Given the description of an element on the screen output the (x, y) to click on. 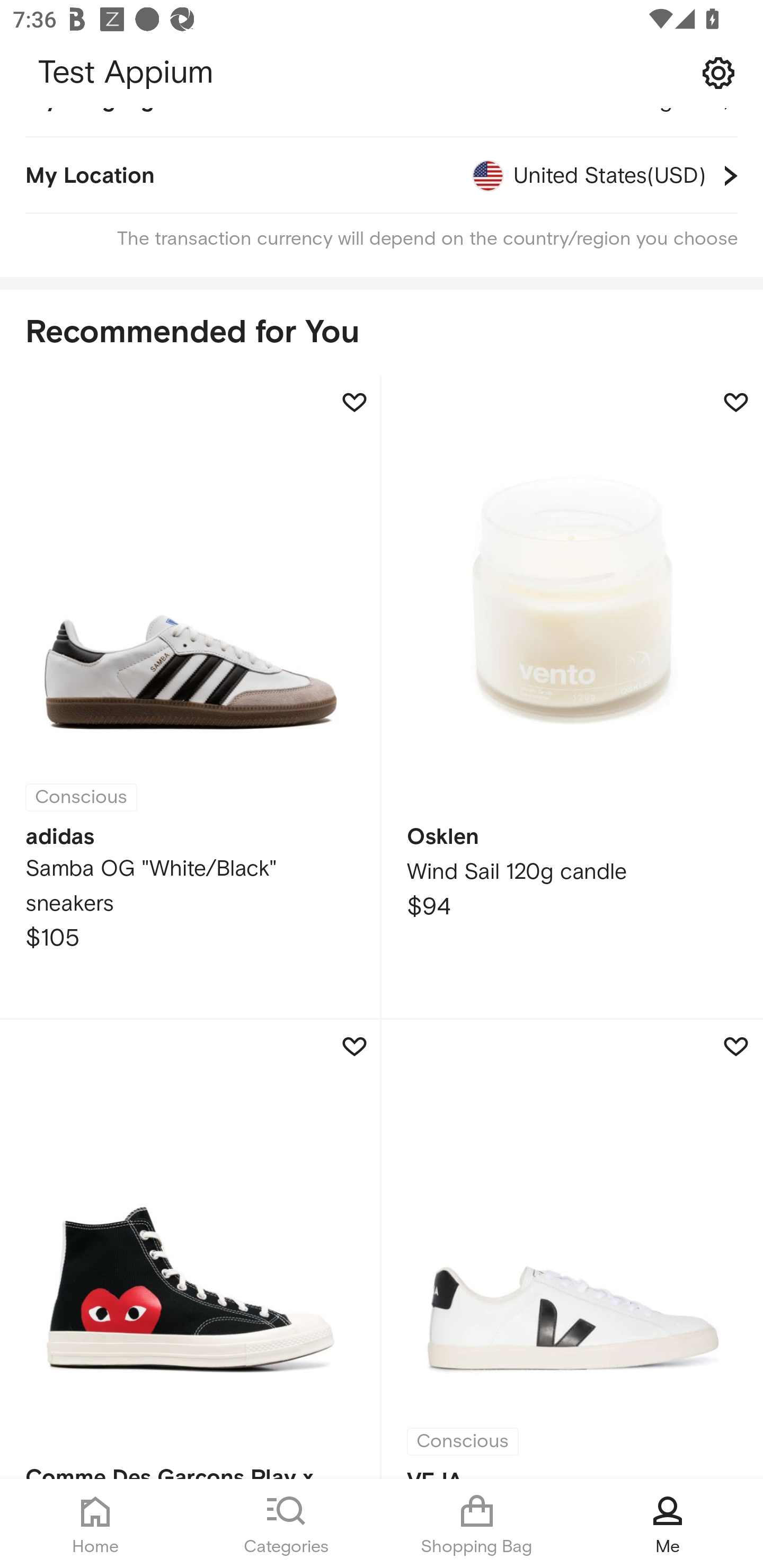
Test Appium (381, 72)
My Location United States(USD) (381, 175)
Osklen Wind Sail 120g candle $94 (572, 697)
Comme Des Garçons Play x Converse (190, 1248)
Conscious VEJA (572, 1248)
Home (95, 1523)
Categories (285, 1523)
Shopping Bag (476, 1523)
